Given the description of an element on the screen output the (x, y) to click on. 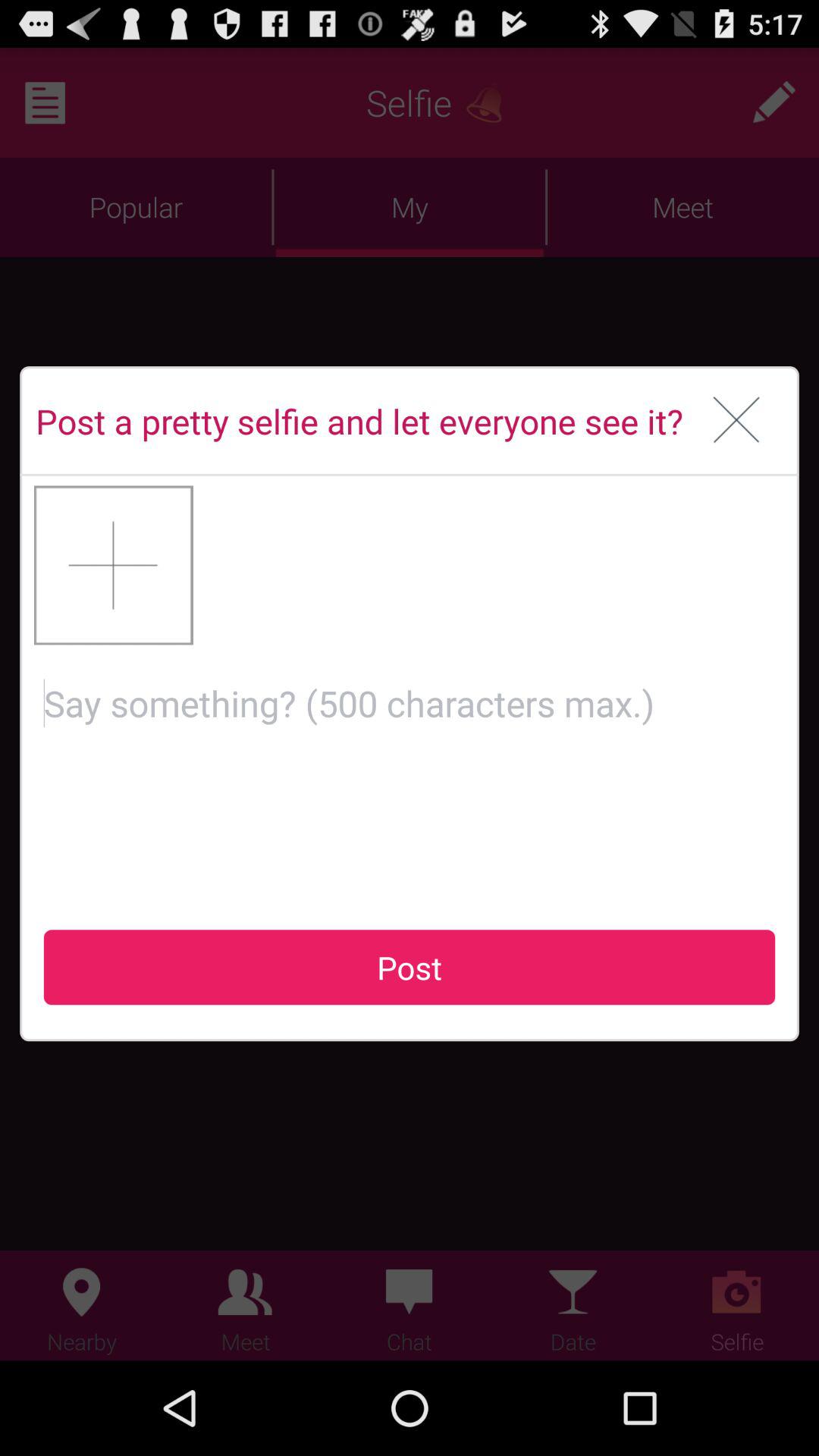
add photo (113, 564)
